Given the description of an element on the screen output the (x, y) to click on. 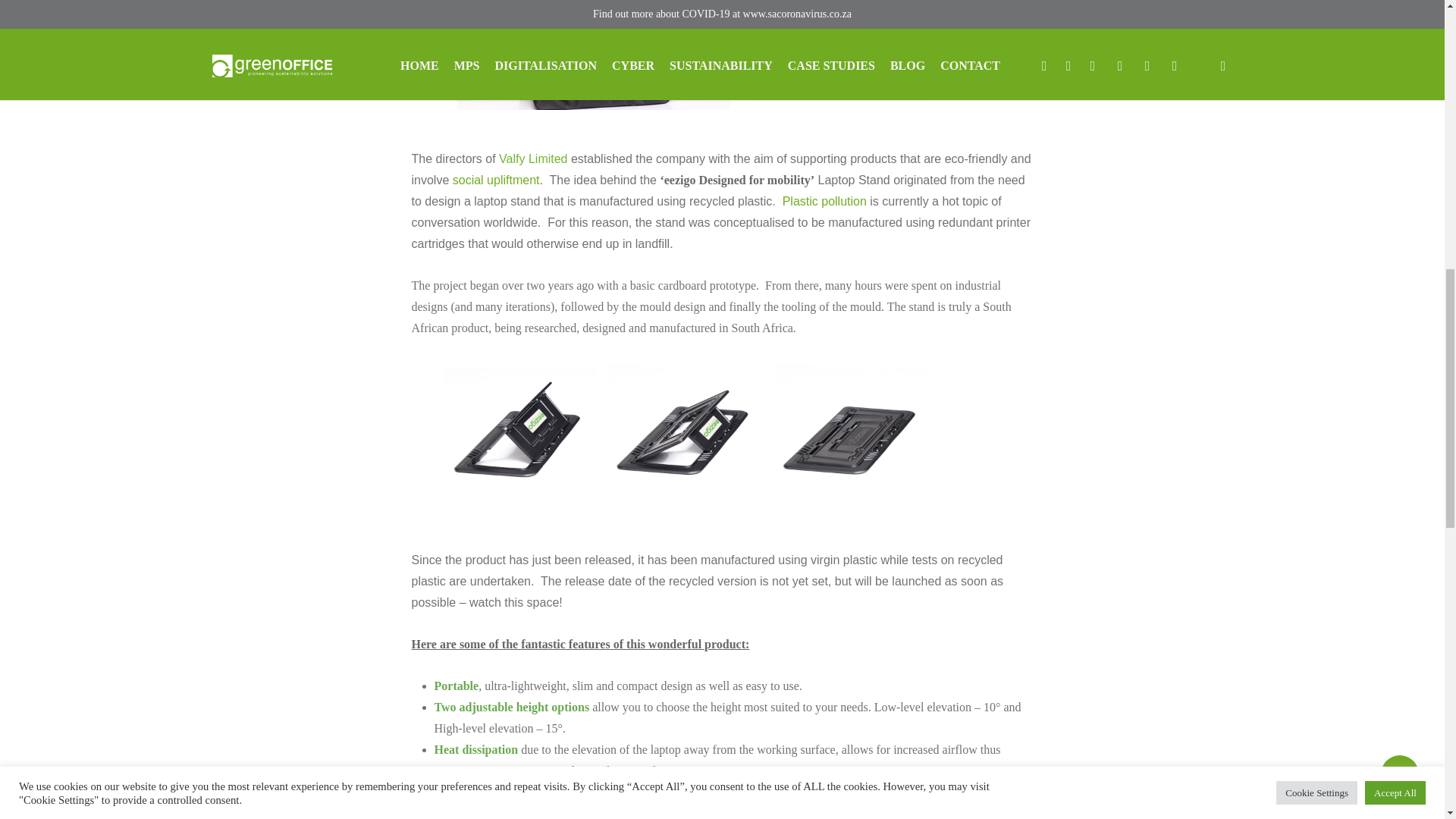
Valfy Limited (533, 158)
Plastic pollution (824, 201)
social upliftment (496, 179)
